Given the description of an element on the screen output the (x, y) to click on. 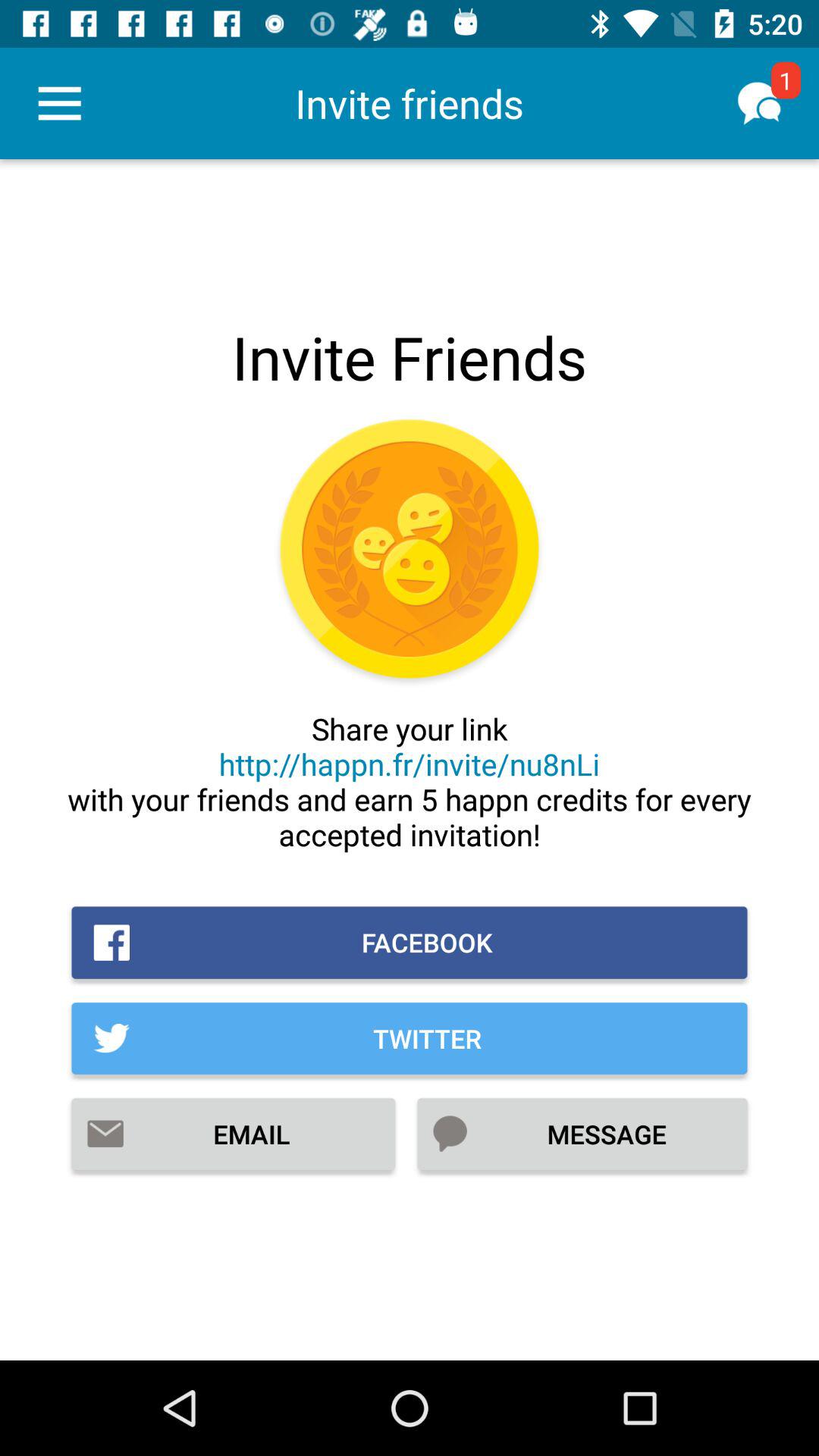
launch item above the email (409, 1038)
